Given the description of an element on the screen output the (x, y) to click on. 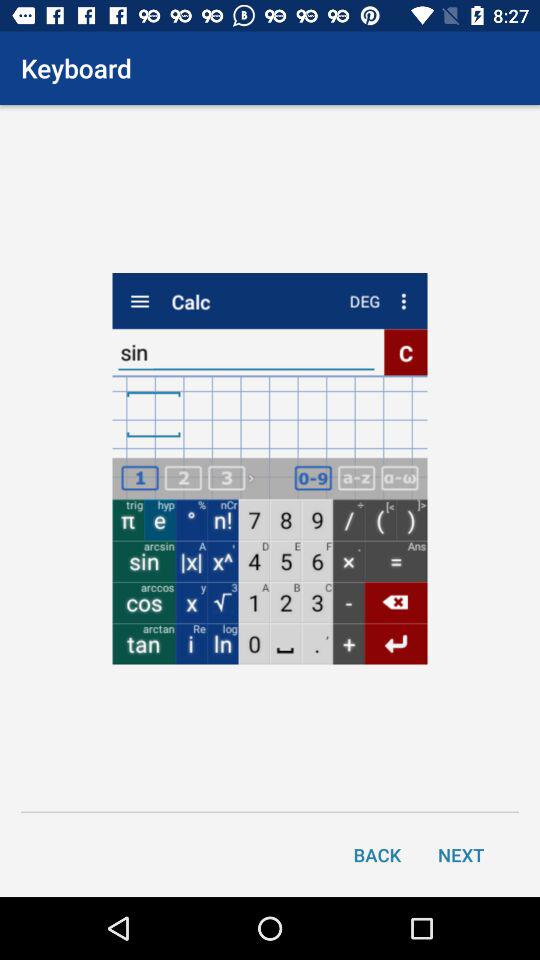
jump to the next icon (461, 854)
